Given the description of an element on the screen output the (x, y) to click on. 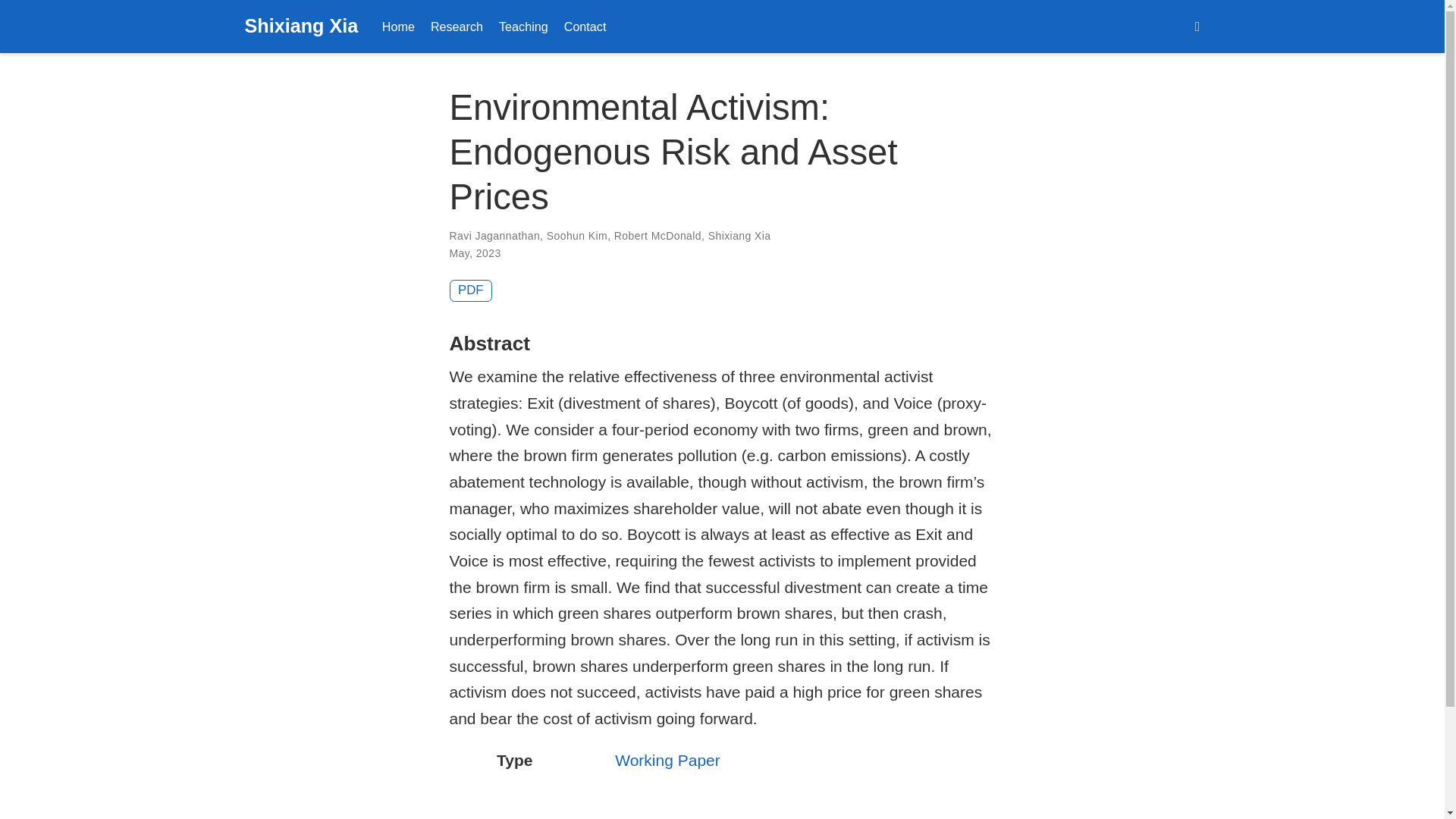
Working Paper (667, 760)
Teaching (524, 25)
PDF (470, 291)
Research (456, 25)
Contact (585, 25)
Shixiang Xia (301, 26)
Home (398, 25)
